Given the description of an element on the screen output the (x, y) to click on. 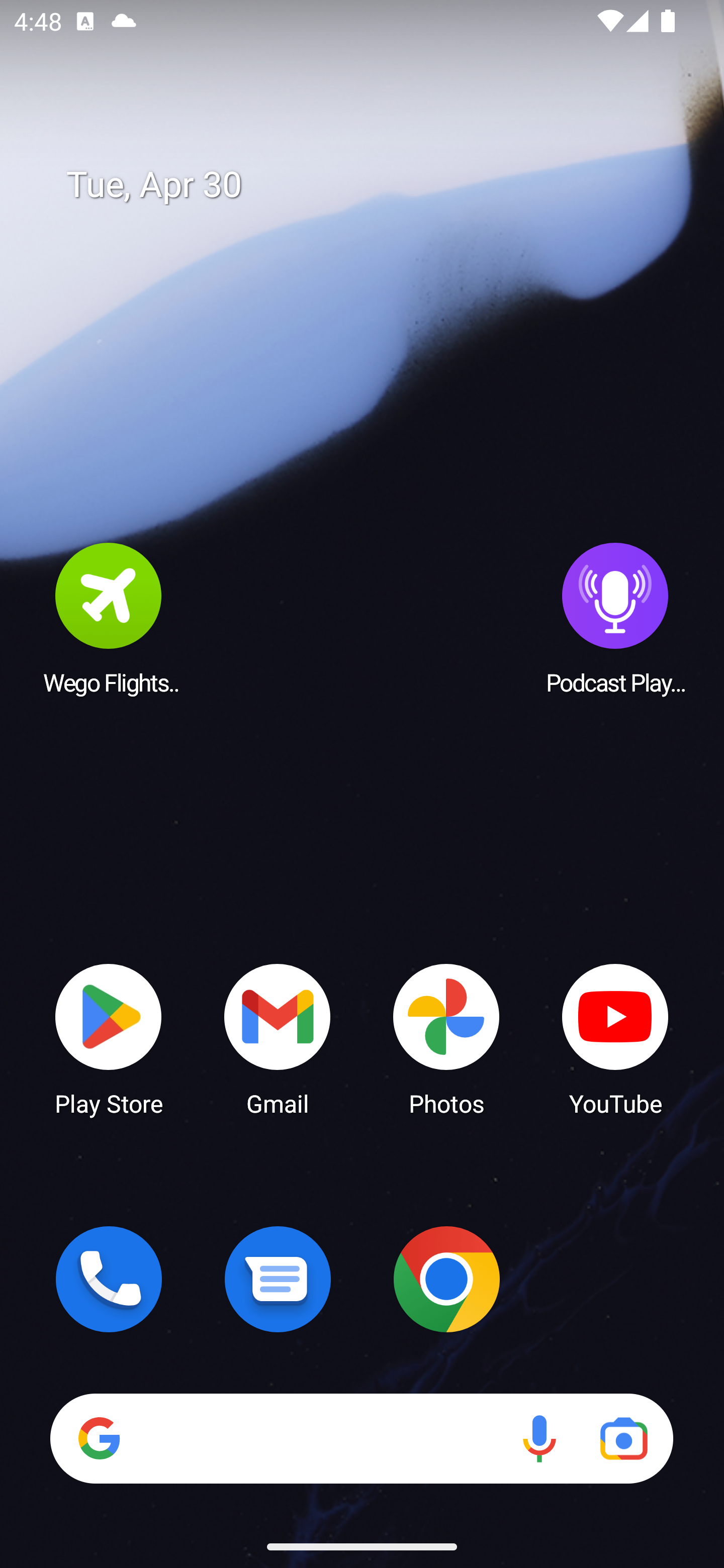
Tue, Apr 30 (375, 184)
Wego Flights & Hotels (108, 617)
Podcast Player (615, 617)
Play Store (108, 1038)
Gmail (277, 1038)
Photos (445, 1038)
YouTube (615, 1038)
Phone (108, 1279)
Messages (277, 1279)
Chrome (446, 1279)
Voice search (539, 1438)
Google Lens (623, 1438)
